Given the description of an element on the screen output the (x, y) to click on. 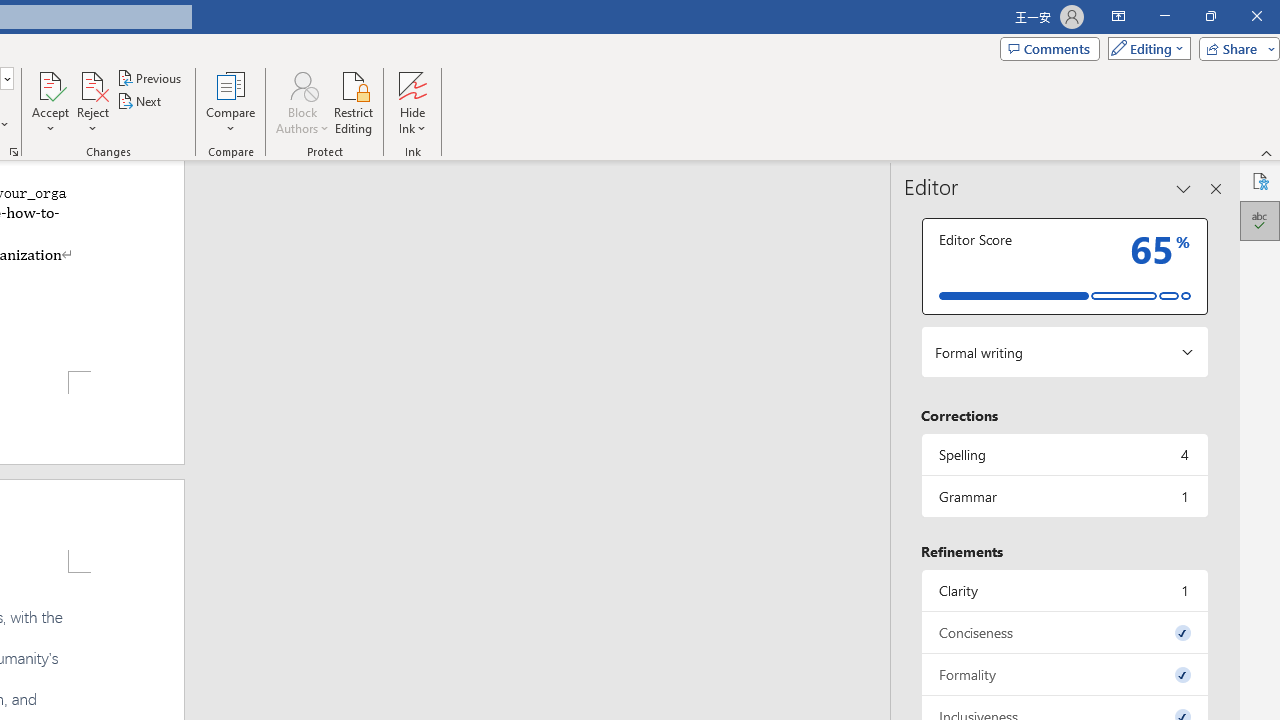
Editor Score 65% (1064, 266)
Spelling, 4 issues. Press space or enter to review items. (1064, 454)
Hide Ink (412, 84)
Reject (92, 102)
Grammar, 1 issue. Press space or enter to review items. (1064, 495)
Clarity, 1 issue. Press space or enter to review items. (1064, 590)
Restrict Editing (353, 102)
